Given the description of an element on the screen output the (x, y) to click on. 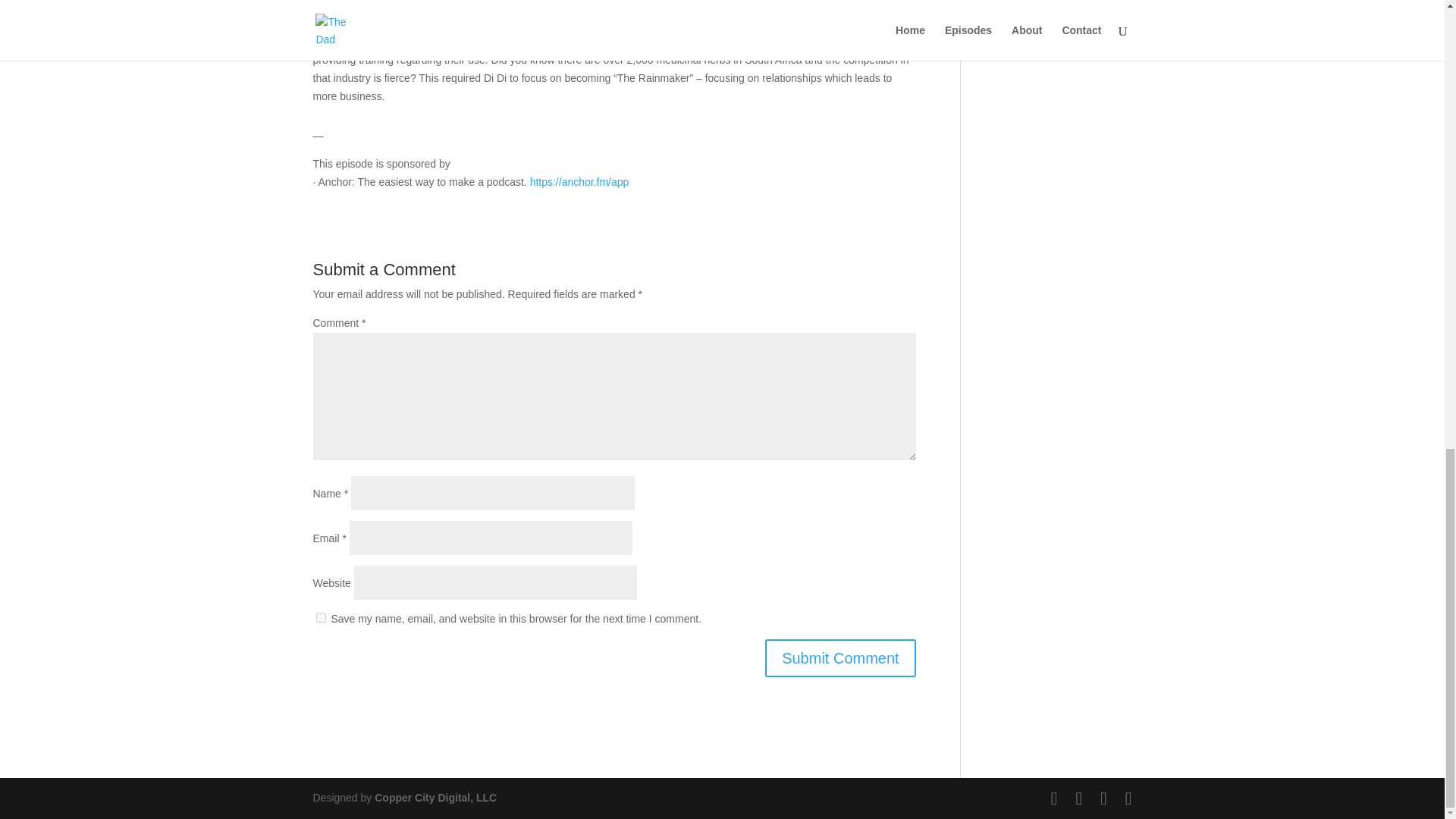
Submit Comment (840, 658)
Submit Comment (840, 658)
yes (319, 617)
